Given the description of an element on the screen output the (x, y) to click on. 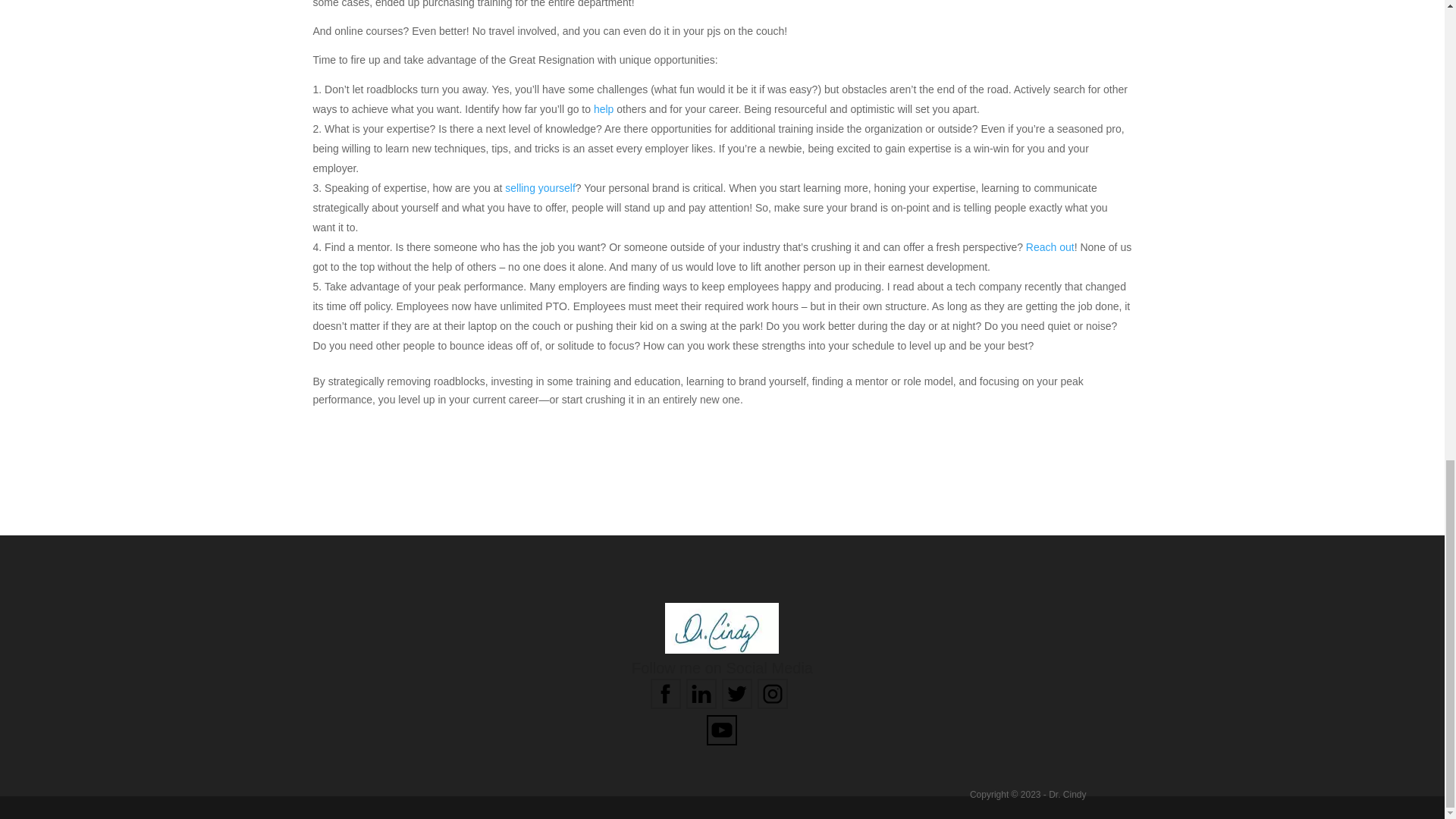
selling yourself (540, 187)
Reach out (1050, 246)
help (603, 109)
